Given the description of an element on the screen output the (x, y) to click on. 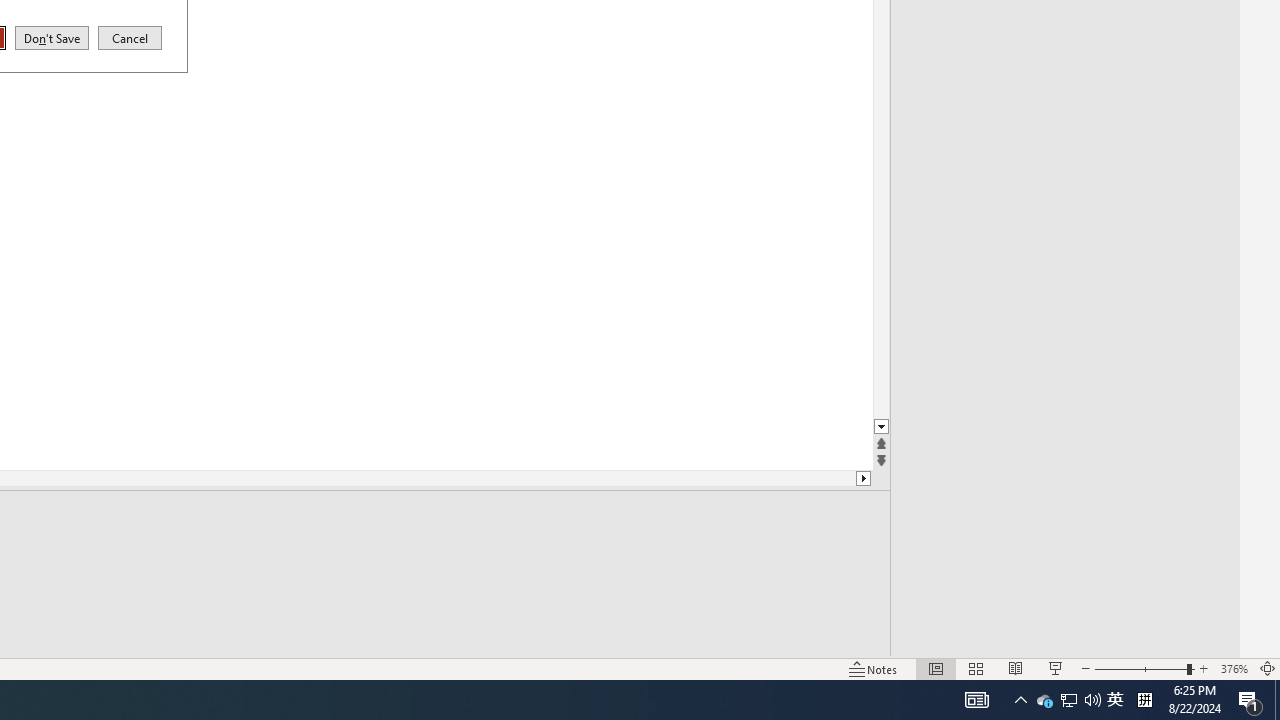
Don't Save (52, 37)
Action Center, 1 new notification (1044, 699)
